Given the description of an element on the screen output the (x, y) to click on. 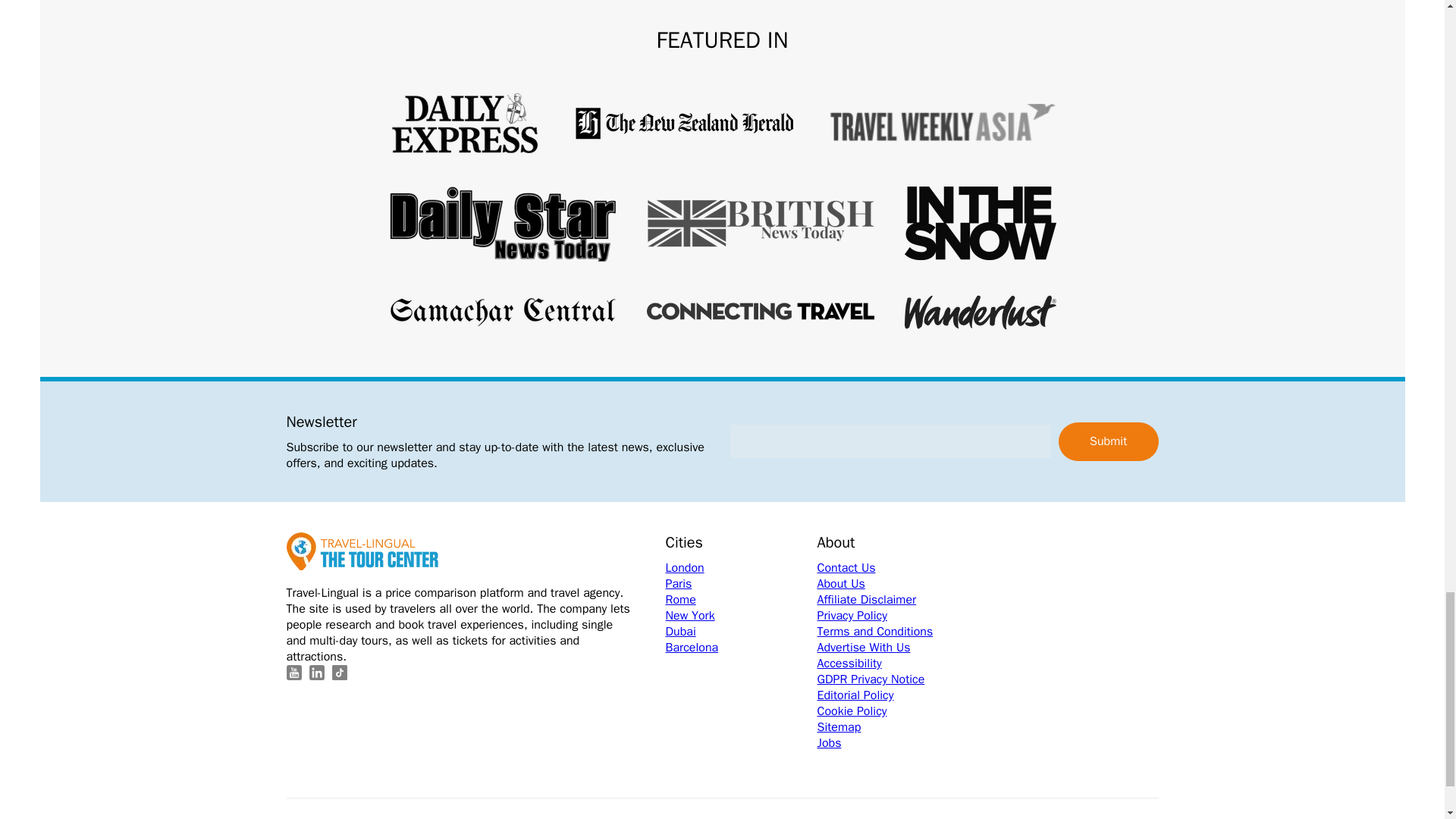
Sitemap (892, 727)
Editorial Policy (892, 695)
Privacy Policy (892, 616)
GDPR Privacy Notice (892, 679)
Paris (740, 584)
Accessibility (892, 663)
Barcelona (740, 647)
Affiliate Disclaimer (892, 600)
Dubai (740, 631)
London (740, 568)
Jobs (892, 743)
Terms and Conditions (892, 631)
New York (740, 616)
Cookie Policy (892, 711)
About Us (892, 584)
